Given the description of an element on the screen output the (x, y) to click on. 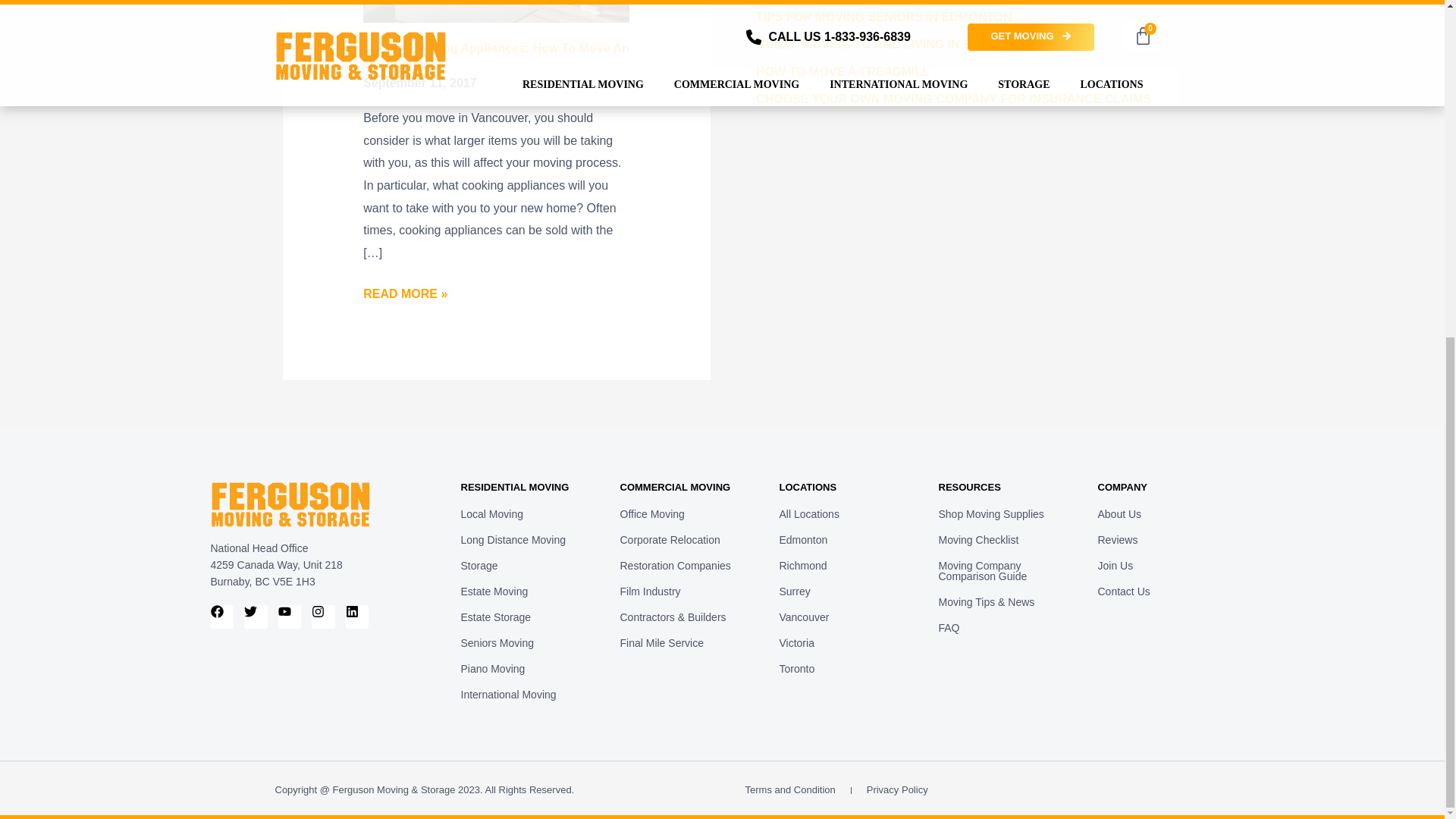
INSTAGRAM (322, 616)
TWITTER (255, 616)
CHOOSE YOUR OWN MOVING COMPANY FOR INSURANCE CLAIMS (953, 98)
GUIDE: MOVING TO AND LIVING IN EDMONTON (894, 43)
TIPS FOR MOVING SENIORS IN EDMONTON (883, 16)
YOUTUBE (289, 616)
Moving Cooking Appliances: How To Move An Oven Range (495, 55)
FACEBOOK (222, 616)
HOW TO MOVE A TREADMILL (842, 71)
